Given the description of an element on the screen output the (x, y) to click on. 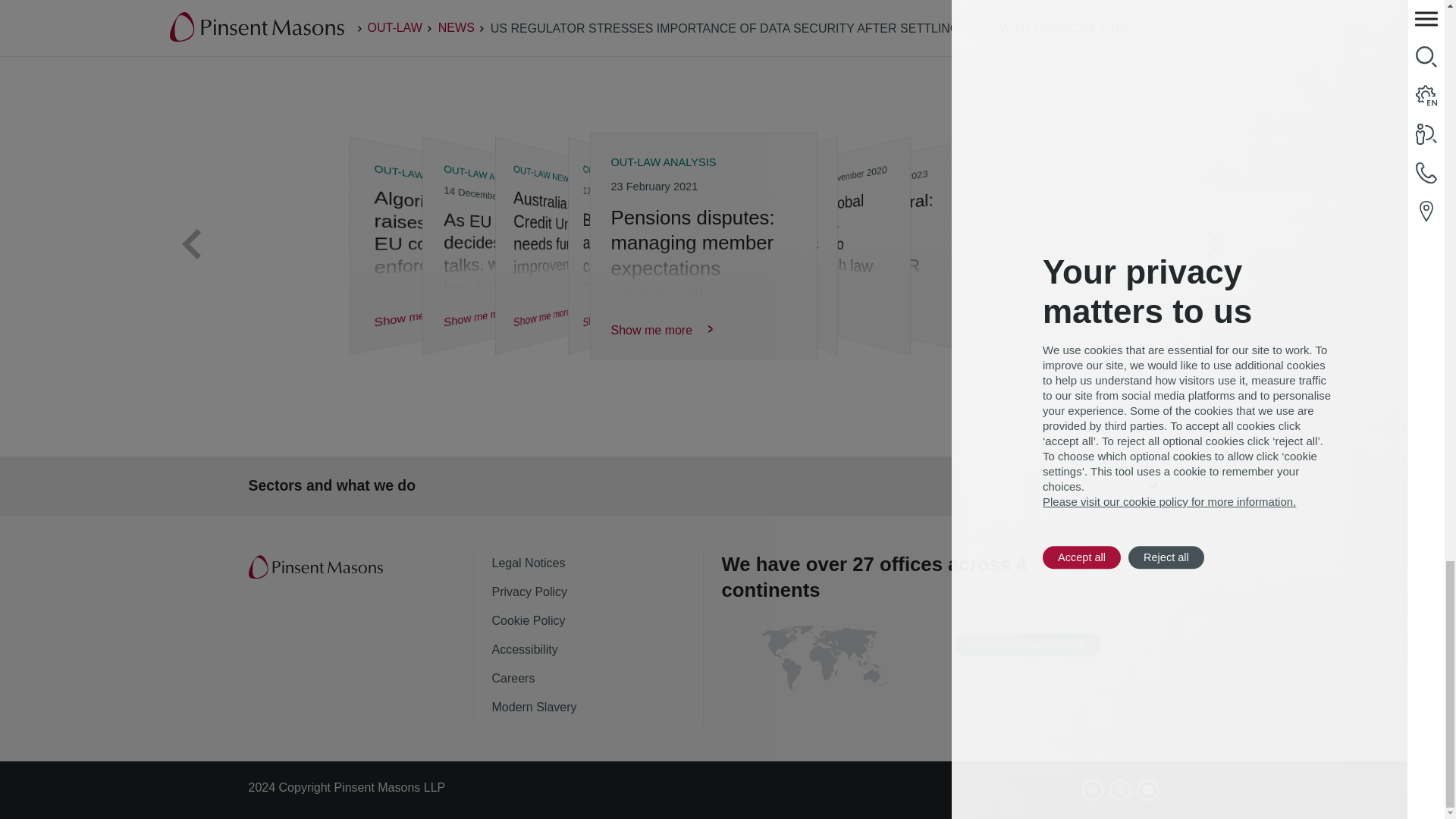
Pinsent Masons (316, 567)
Pinsent Masons LinkedIn (1092, 789)
Pinsent Masons Twitter (1120, 789)
